Given the description of an element on the screen output the (x, y) to click on. 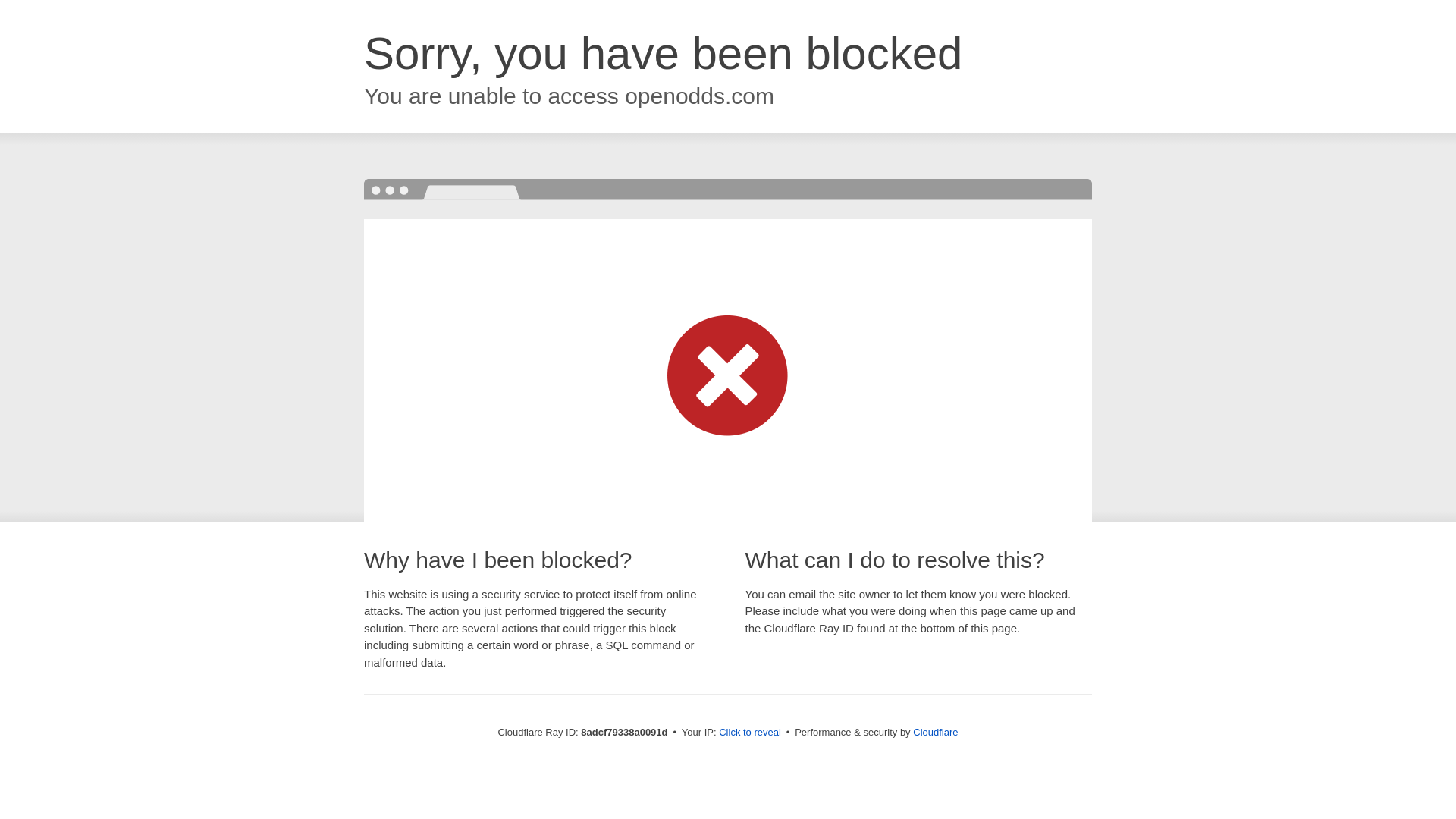
Click to reveal (749, 732)
Cloudflare (935, 731)
